Given the description of an element on the screen output the (x, y) to click on. 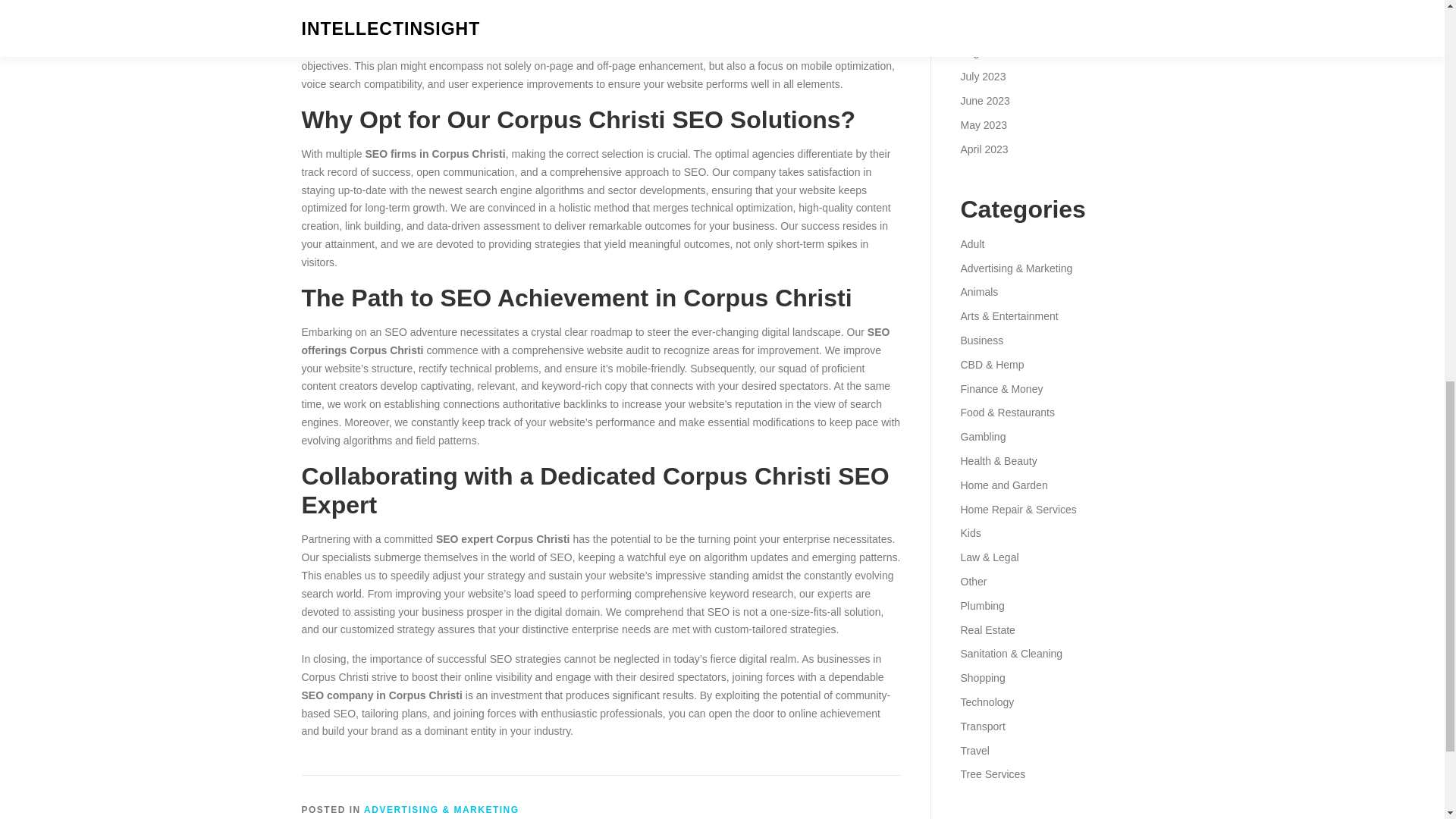
June 2023 (984, 101)
September 2023 (999, 28)
October 2023 (992, 5)
Adult (971, 244)
August 2023 (989, 51)
April 2023 (983, 149)
Business (981, 340)
Animals (978, 291)
May 2023 (982, 124)
Gambling (982, 436)
